Given the description of an element on the screen output the (x, y) to click on. 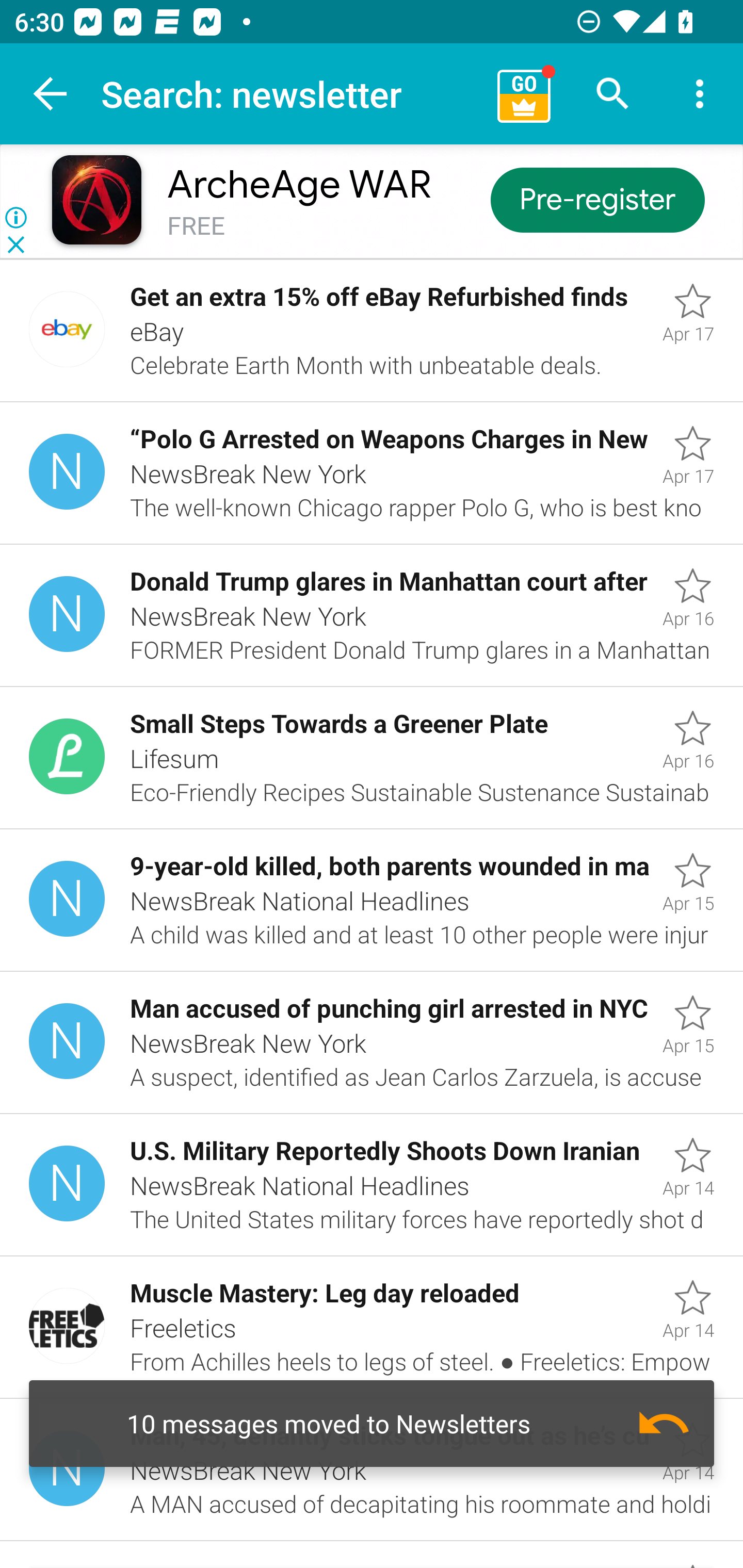
Navigate up (50, 93)
Search (612, 93)
More options (699, 93)
ArcheAge WAR (298, 184)
Pre-register (597, 199)
FREE (195, 225)
Undo 10 messages moved to Newsletters (371, 1423)
